Given the description of an element on the screen output the (x, y) to click on. 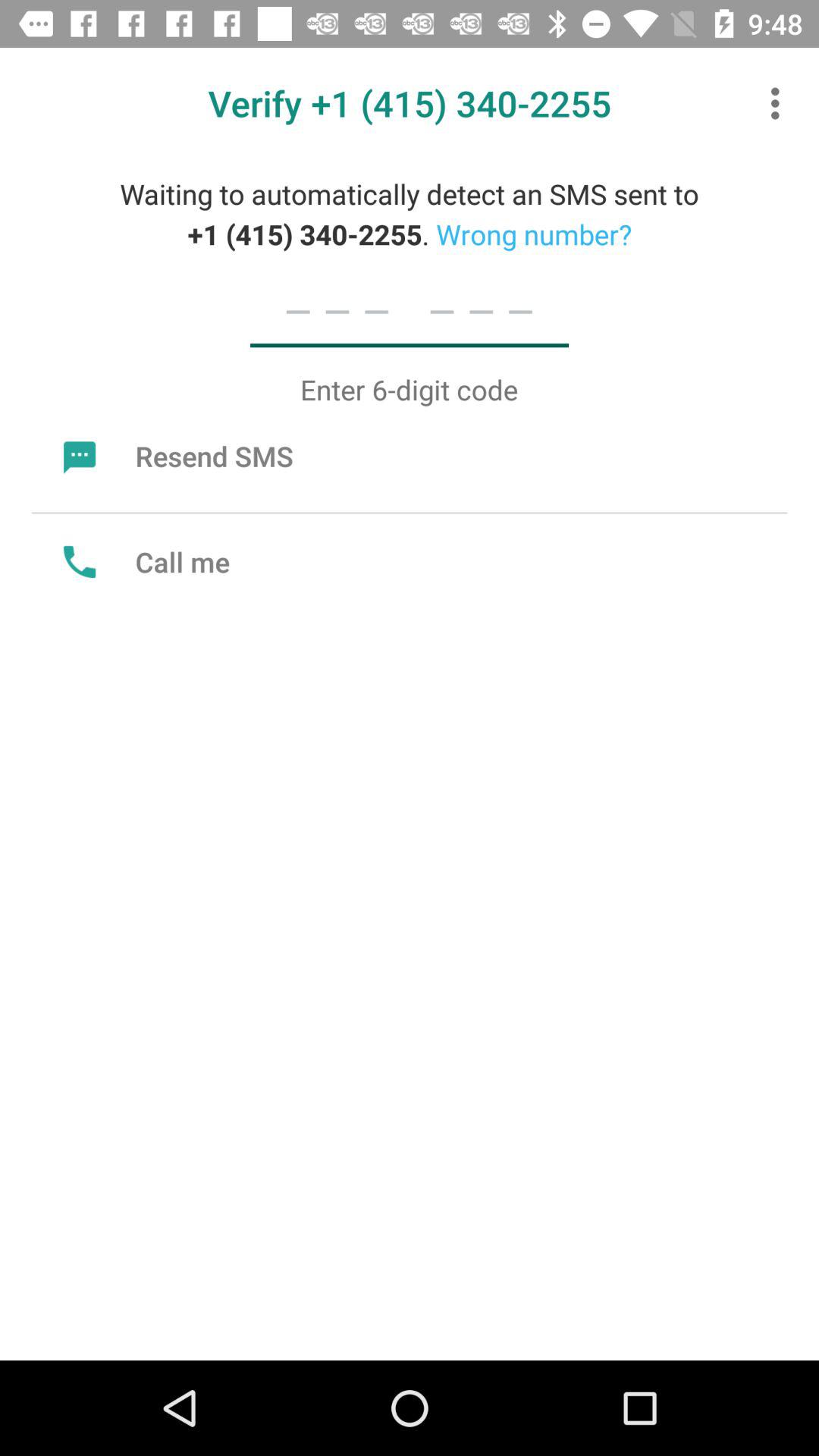
choose call me on the left (142, 561)
